Given the description of an element on the screen output the (x, y) to click on. 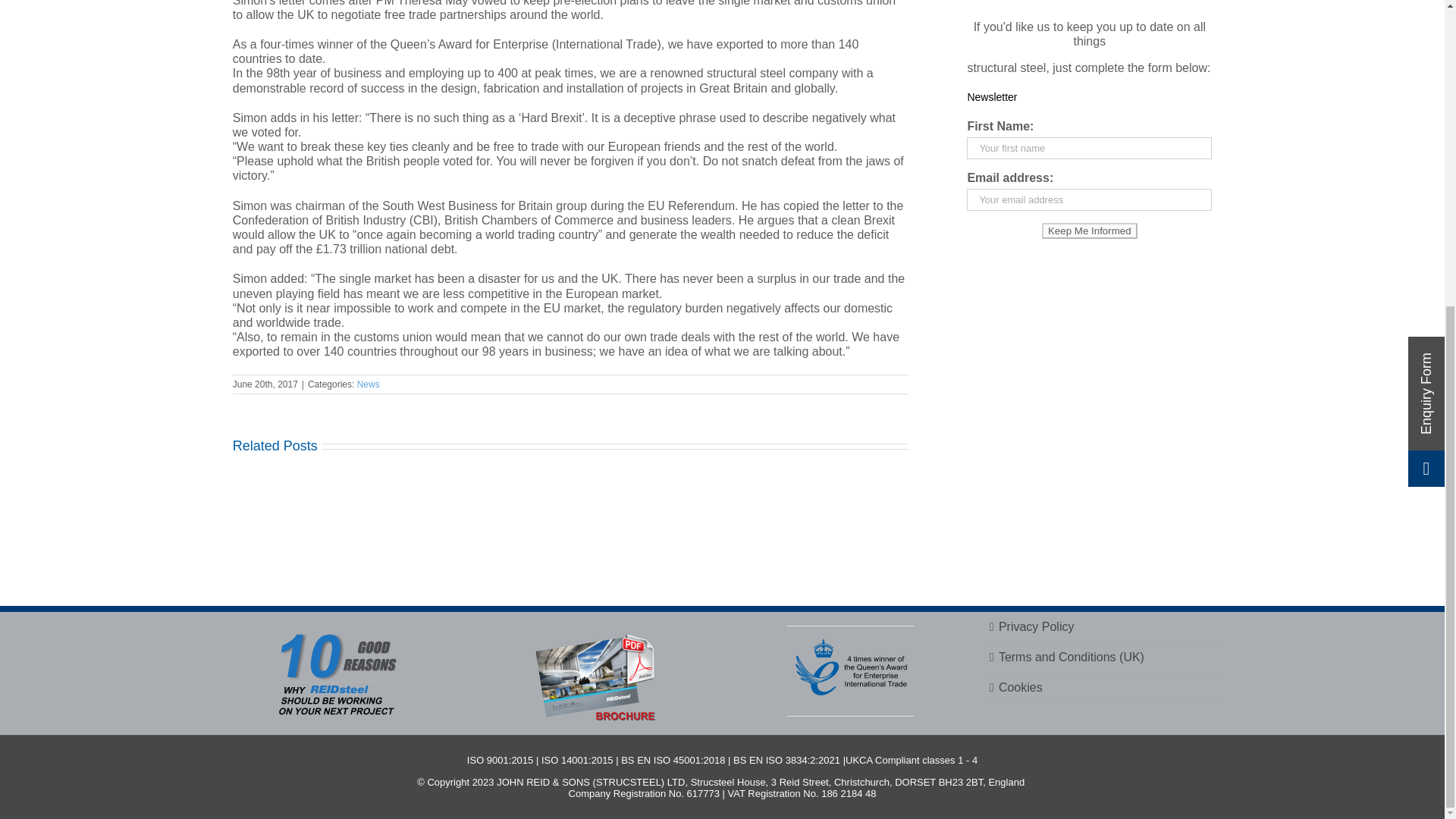
Keep Me Informed (1089, 230)
